Given the description of an element on the screen output the (x, y) to click on. 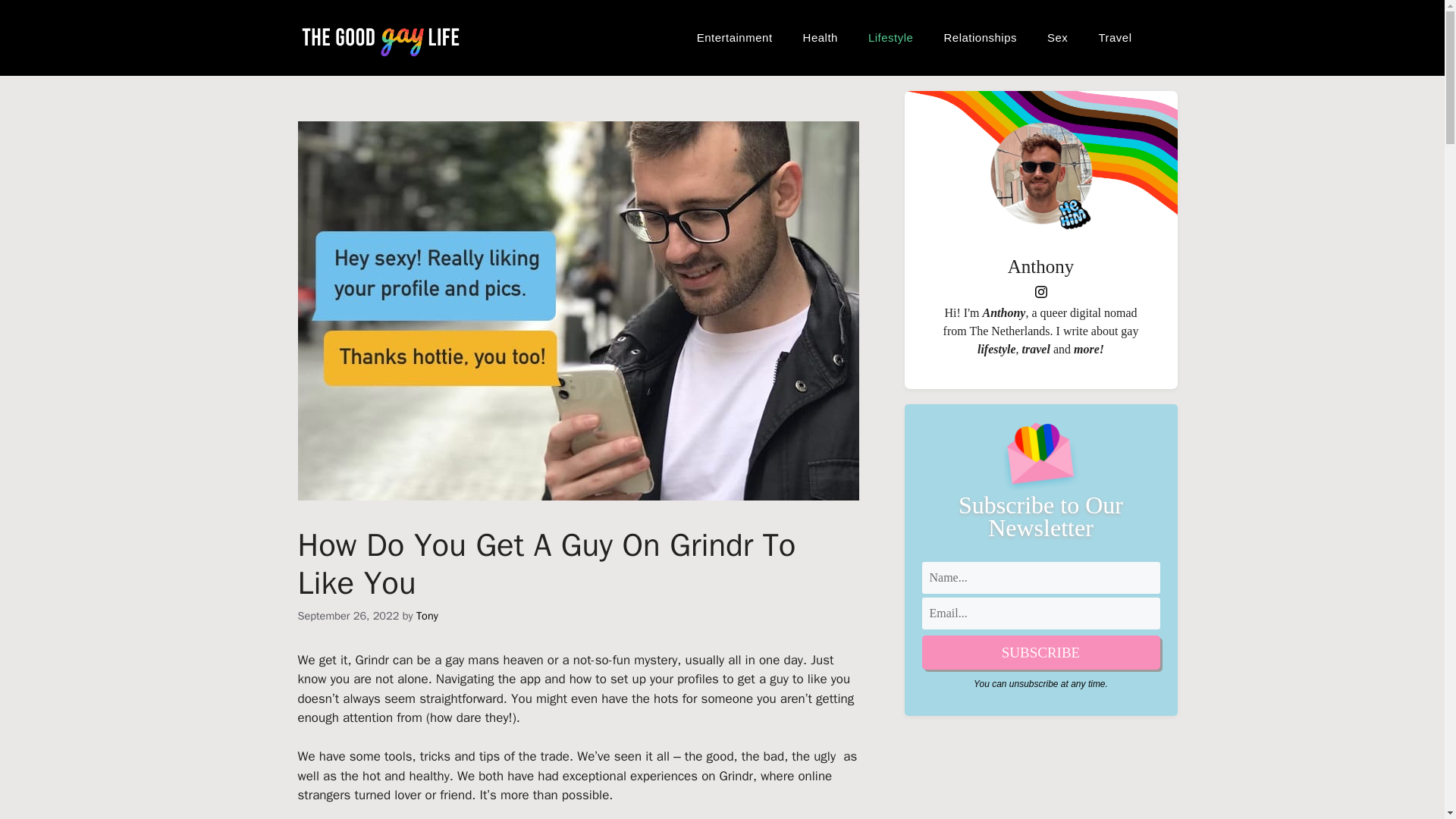
Relationships (980, 37)
Entertainment (734, 37)
Lifestyle (890, 37)
Health (820, 37)
View all posts by Tony (427, 615)
Sex (1057, 37)
Travel (1115, 37)
Subscribe (1040, 652)
Subscribe (1040, 652)
Tony (427, 615)
Take Action Now! (133, 15)
